Given the description of an element on the screen output the (x, y) to click on. 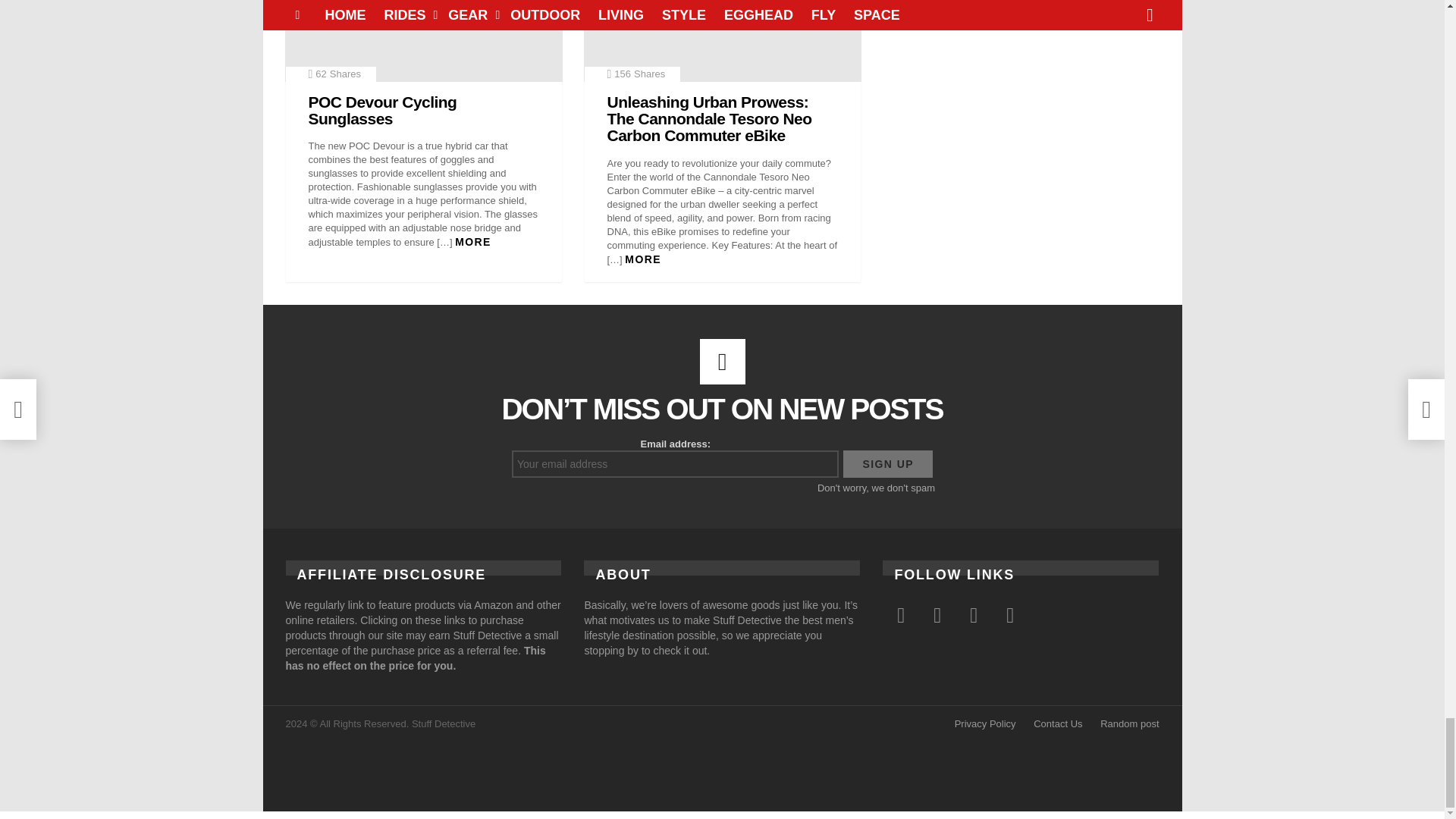
Sign up (888, 463)
